Given the description of an element on the screen output the (x, y) to click on. 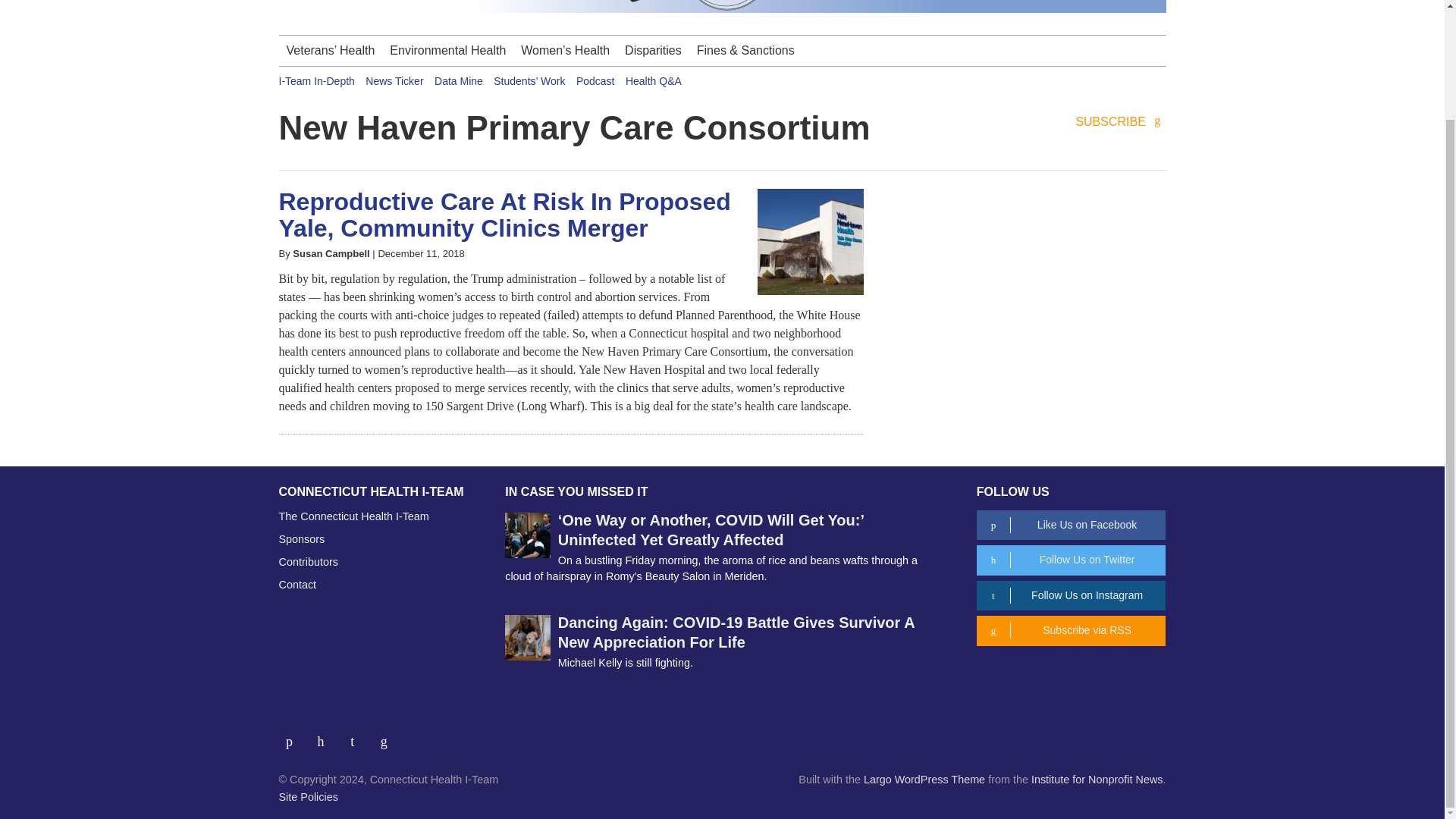
News Ticker (394, 80)
Link to RSS Feed (384, 735)
Environmental Health (447, 51)
I-Team In-Depth (317, 80)
Link to Instagram Page (358, 735)
Disparities (652, 51)
Data Mine (458, 80)
Link to Twitter Page (326, 735)
More from Susan Campbell (330, 253)
